Given the description of an element on the screen output the (x, y) to click on. 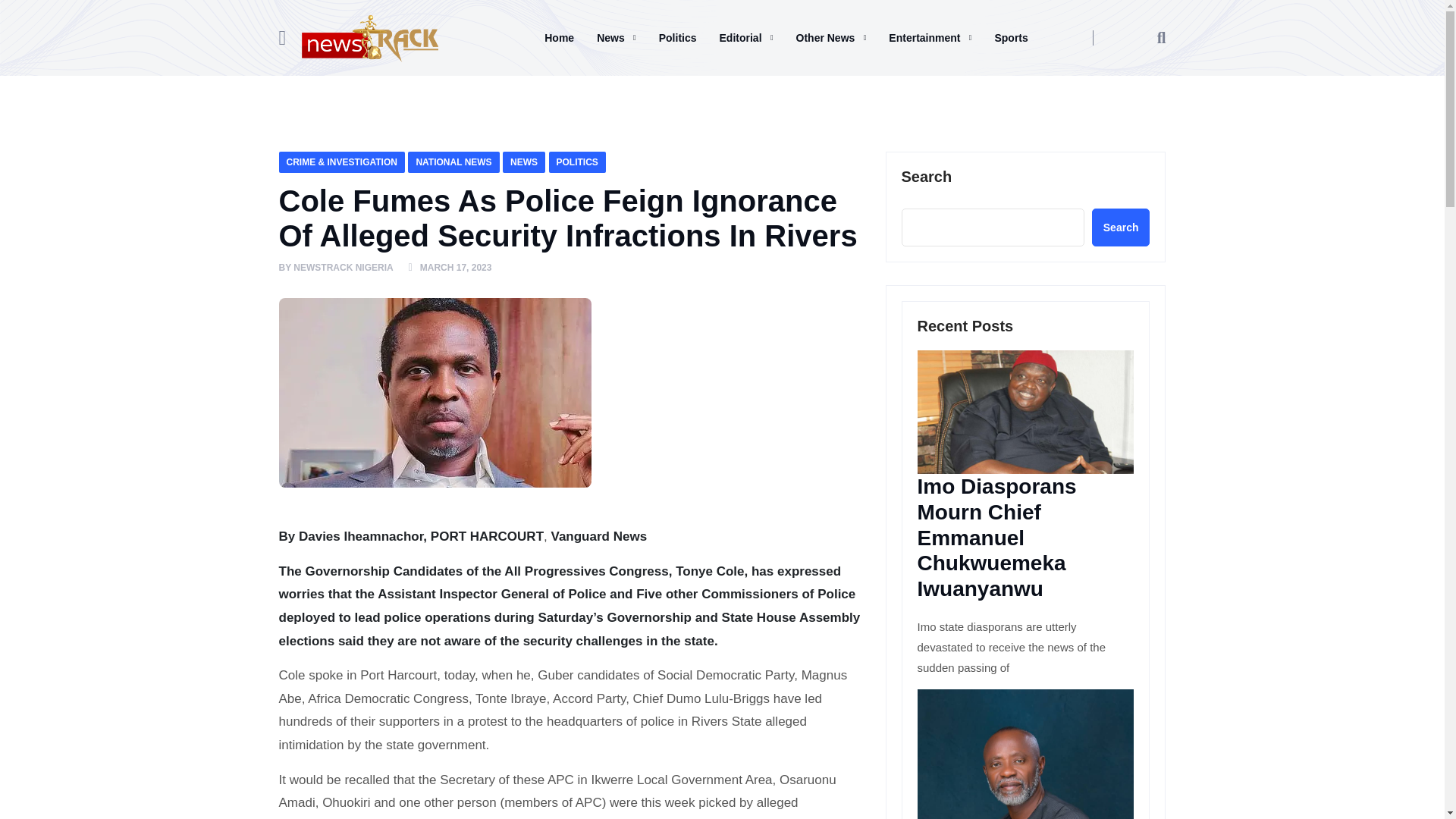
Entertainment (929, 37)
Editorial (745, 37)
Politics (677, 37)
Other News (830, 37)
News (616, 37)
